Given the description of an element on the screen output the (x, y) to click on. 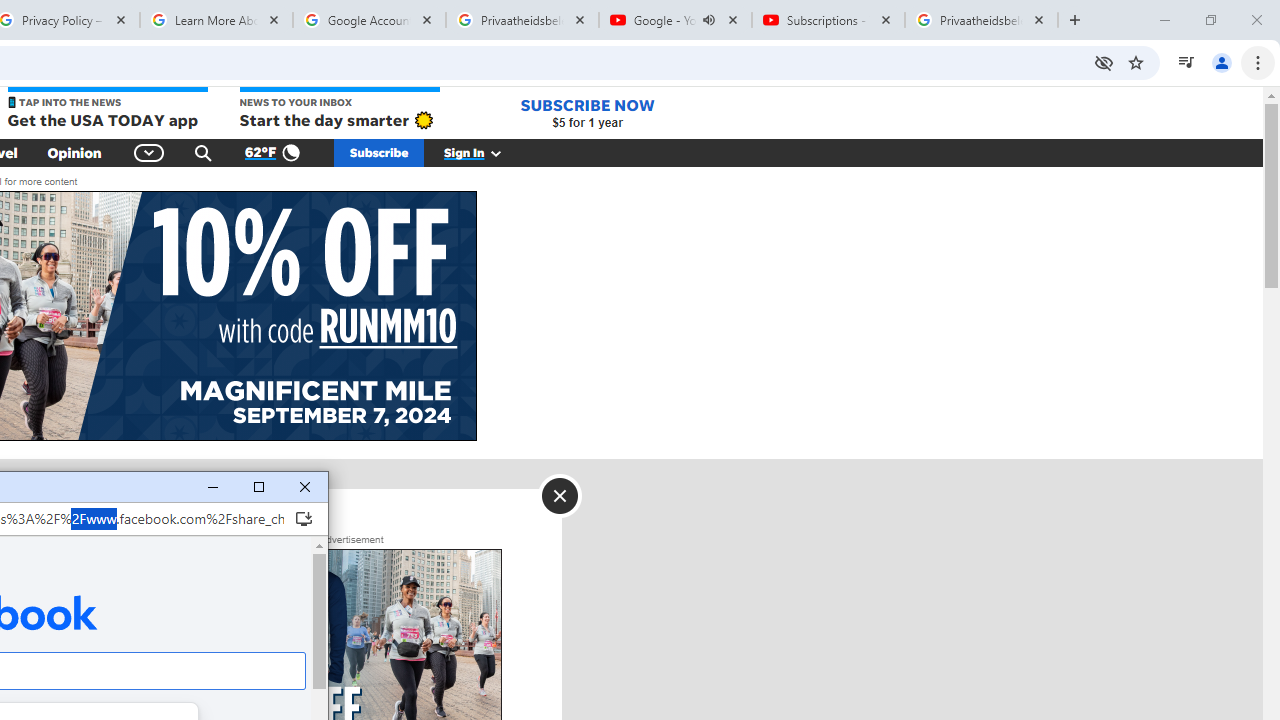
SUBSCRIBE NOW $5 for 1 year (587, 112)
Google - YouTube - Audio playing (675, 20)
Opinion (74, 152)
Sign In (483, 152)
Google Account (369, 20)
